Given the description of an element on the screen output the (x, y) to click on. 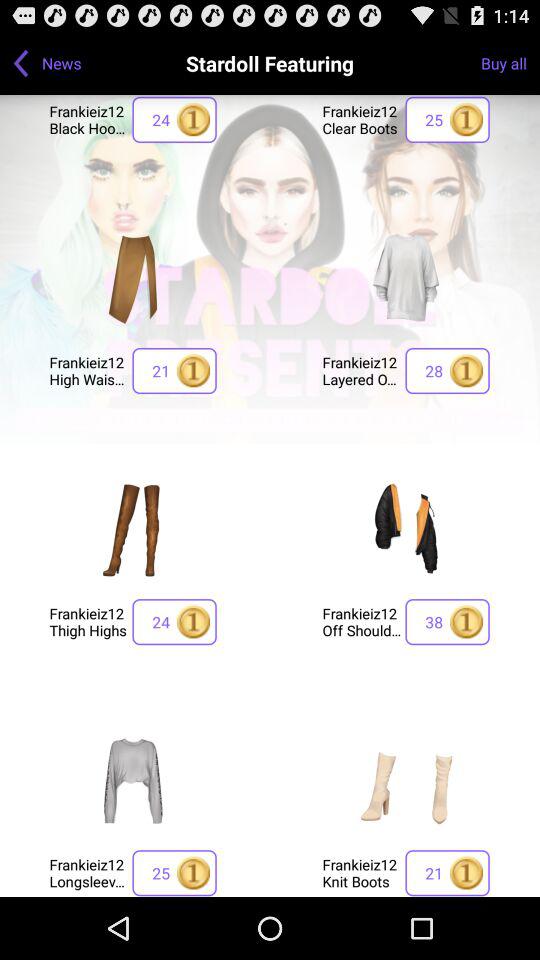
choose clothing item (406, 780)
